Given the description of an element on the screen output the (x, y) to click on. 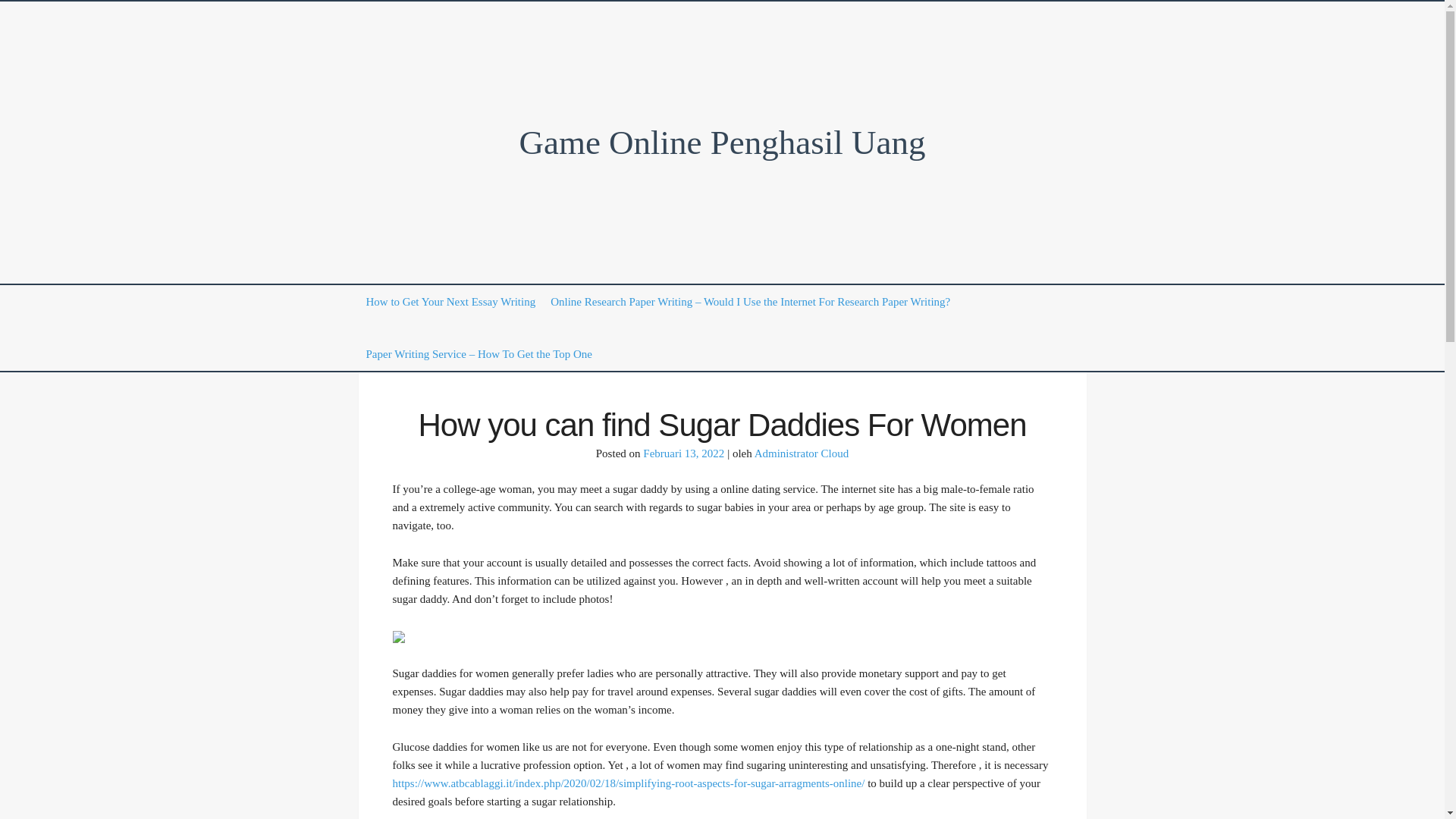
Administrator Cloud (801, 453)
Game Online Penghasil Uang (721, 142)
Februari 13, 2022 (683, 453)
How to Get Your Next Essay Writing (450, 301)
